Given the description of an element on the screen output the (x, y) to click on. 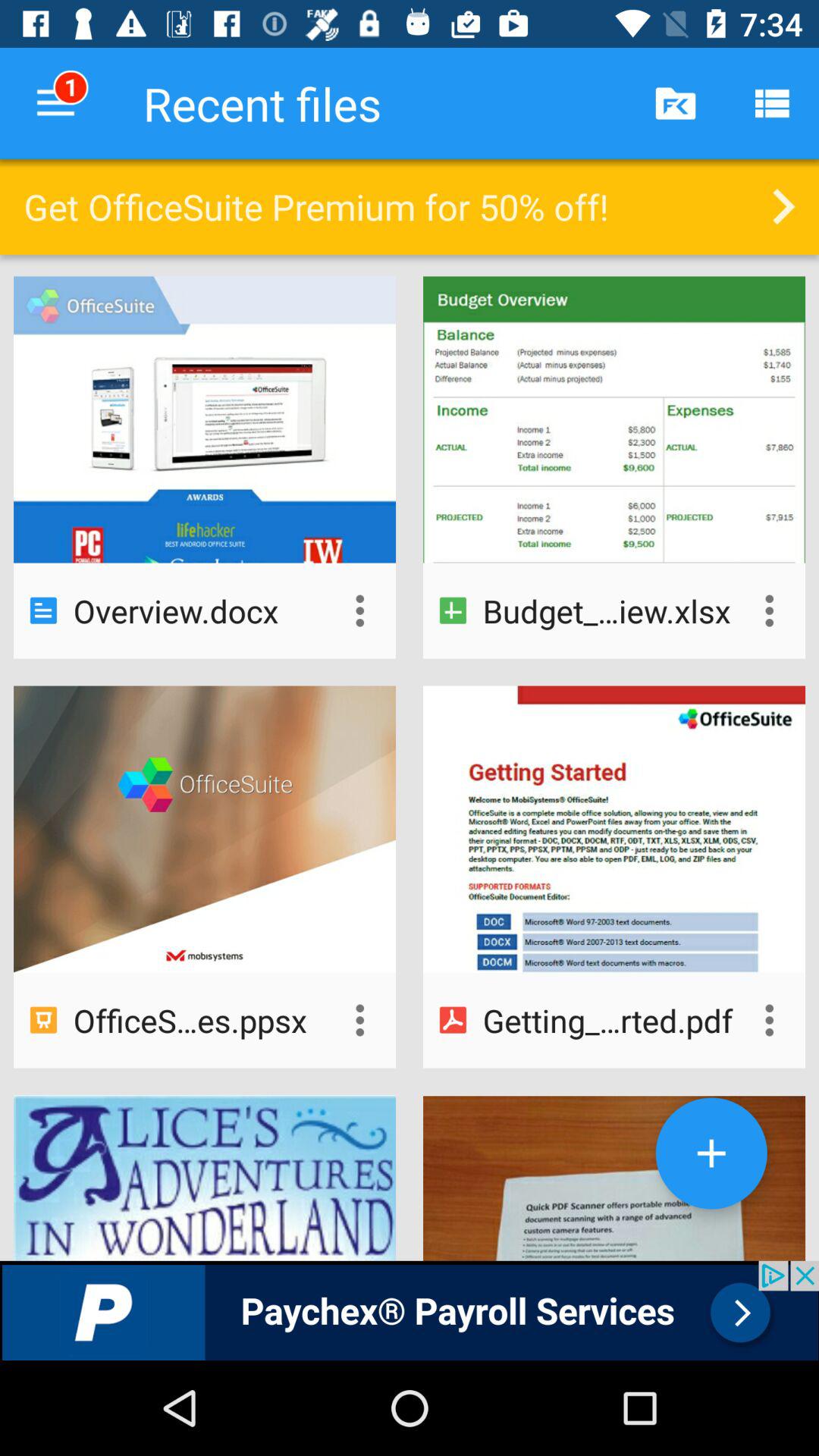
display options (769, 610)
